Given the description of an element on the screen output the (x, y) to click on. 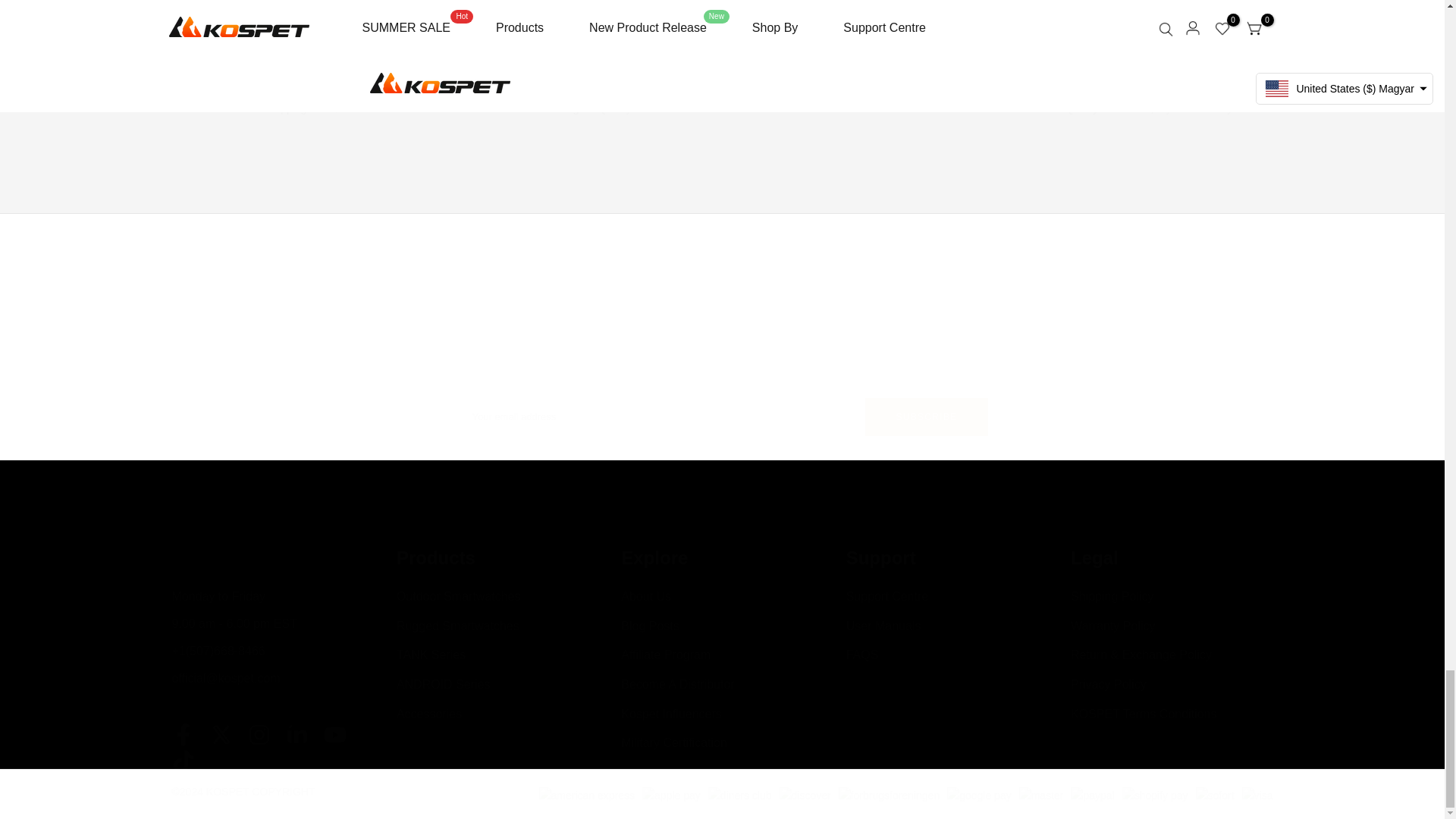
Follow on Instagram (258, 734)
Follow on YouTube (334, 734)
Follow on Twitter (220, 734)
Follow on Tiktok (182, 761)
Follow on Facebook (182, 734)
Follow on Linkedin (296, 734)
